Given the description of an element on the screen output the (x, y) to click on. 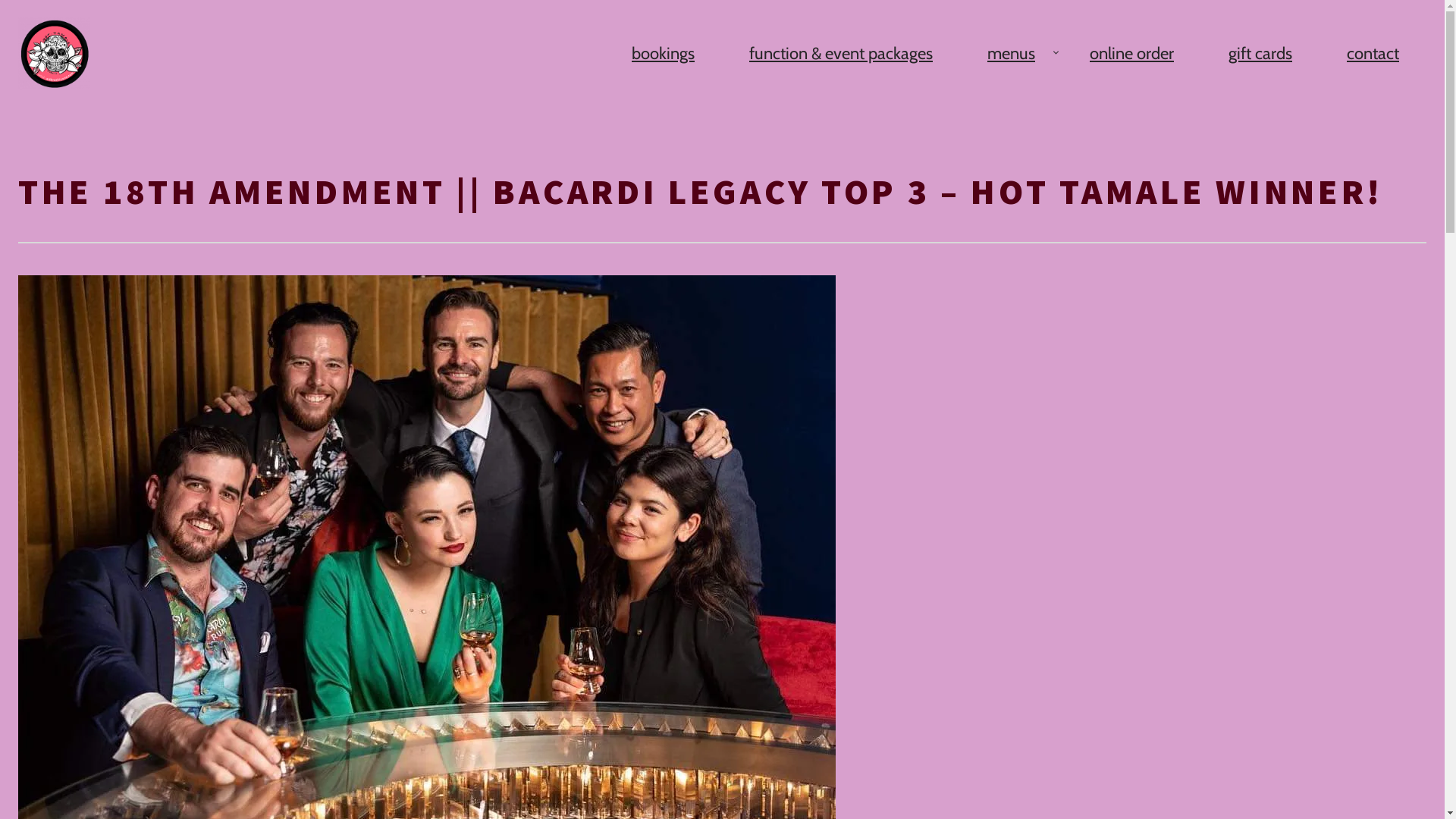
function & event packages Element type: text (840, 53)
contact Element type: text (1372, 53)
bookings Element type: text (662, 53)
menus Element type: text (1011, 53)
online order Element type: text (1131, 53)
gift cards Element type: text (1260, 53)
